Given the description of an element on the screen output the (x, y) to click on. 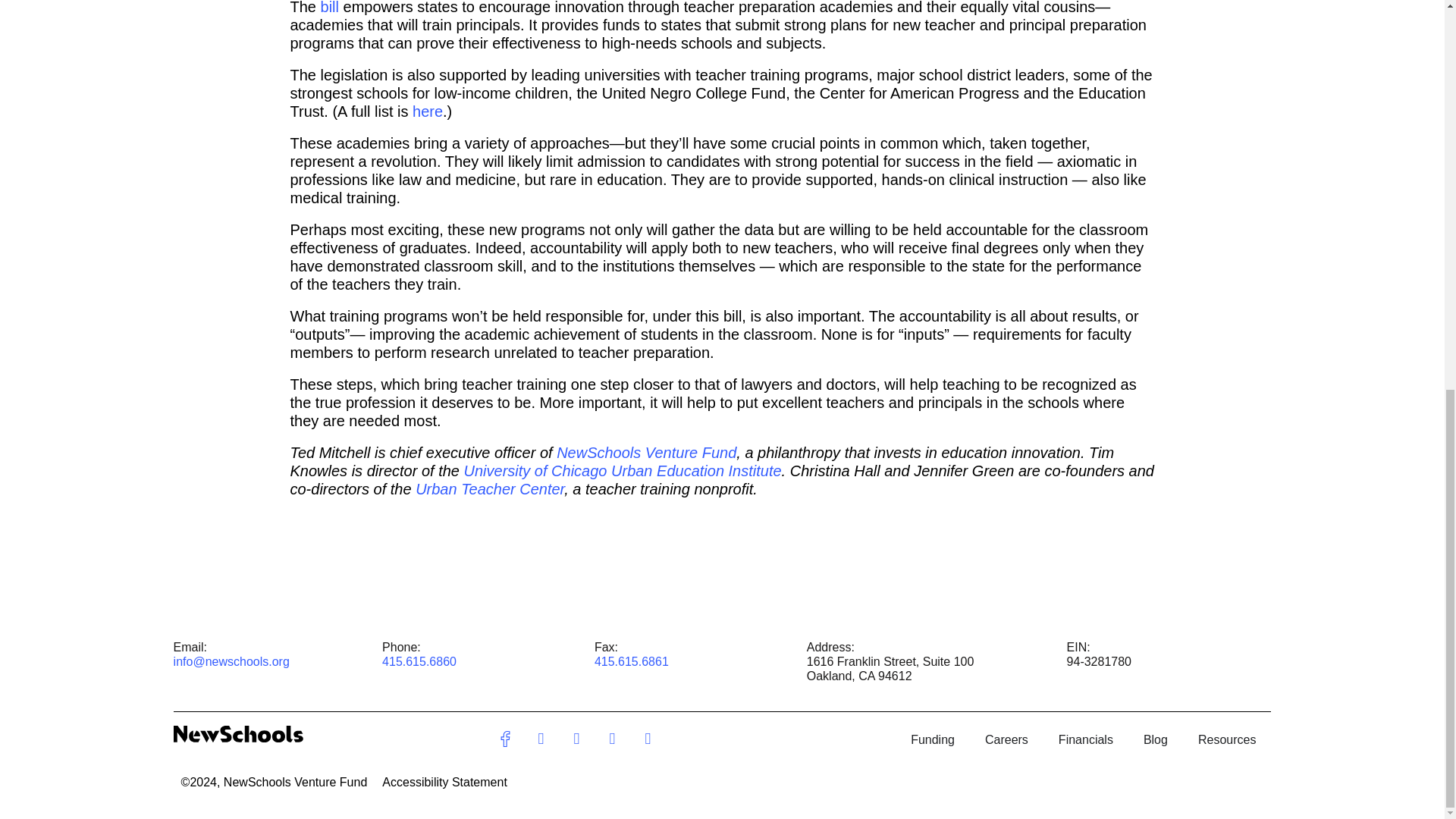
bill (329, 7)
here (427, 111)
NewSchools Venture Fund (646, 452)
University of Chicago Urban Education Institute (622, 470)
